Given the description of an element on the screen output the (x, y) to click on. 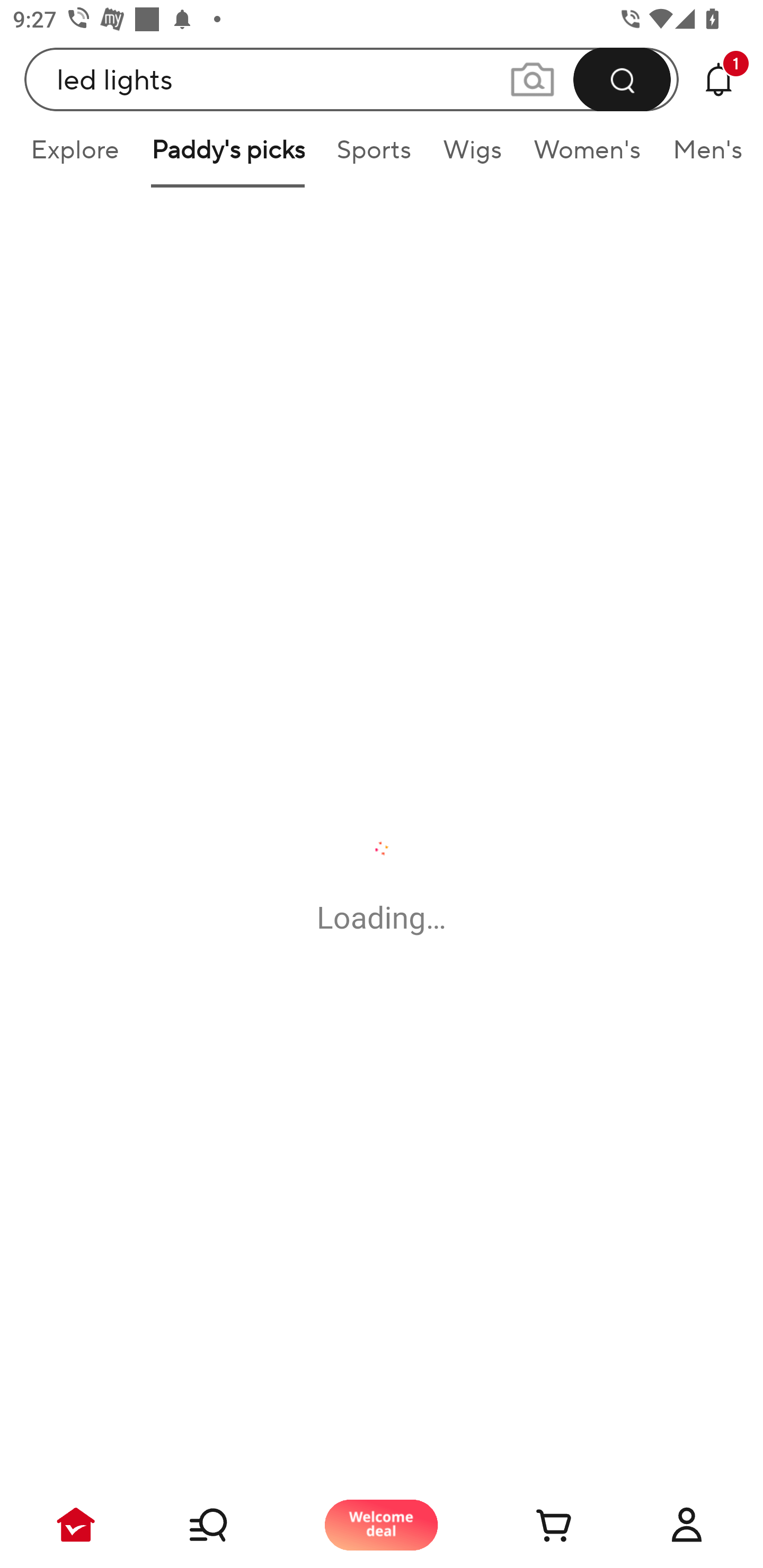
led lights (351, 79)
Explore (74, 155)
Sports (373, 155)
Wigs (472, 155)
Women's (586, 155)
Men's (701, 155)
Shop (228, 1524)
Cart (533, 1524)
Account (686, 1524)
